Given the description of an element on the screen output the (x, y) to click on. 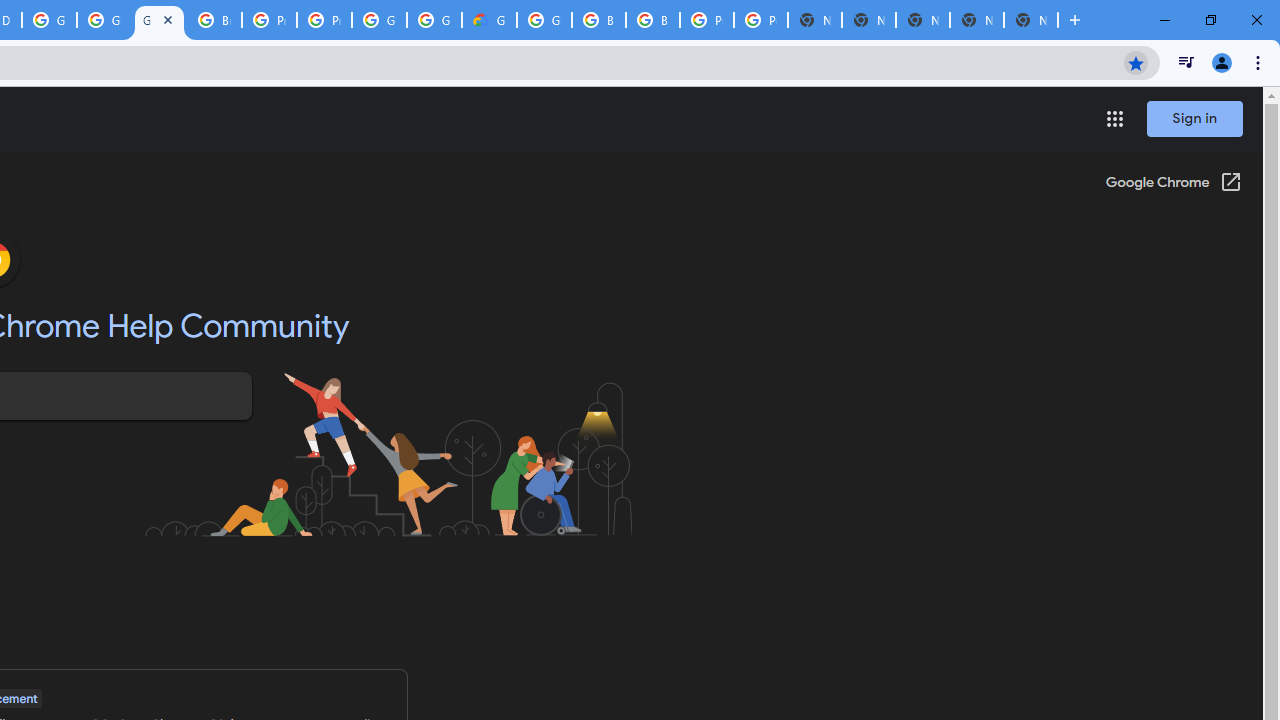
Google Cloud Platform (48, 20)
Google Cloud Platform (434, 20)
Google Chrome Community (158, 20)
Browse Chrome as a guest - Computer - Google Chrome Help (652, 20)
Google Cloud Estimate Summary (489, 20)
